Given the description of an element on the screen output the (x, y) to click on. 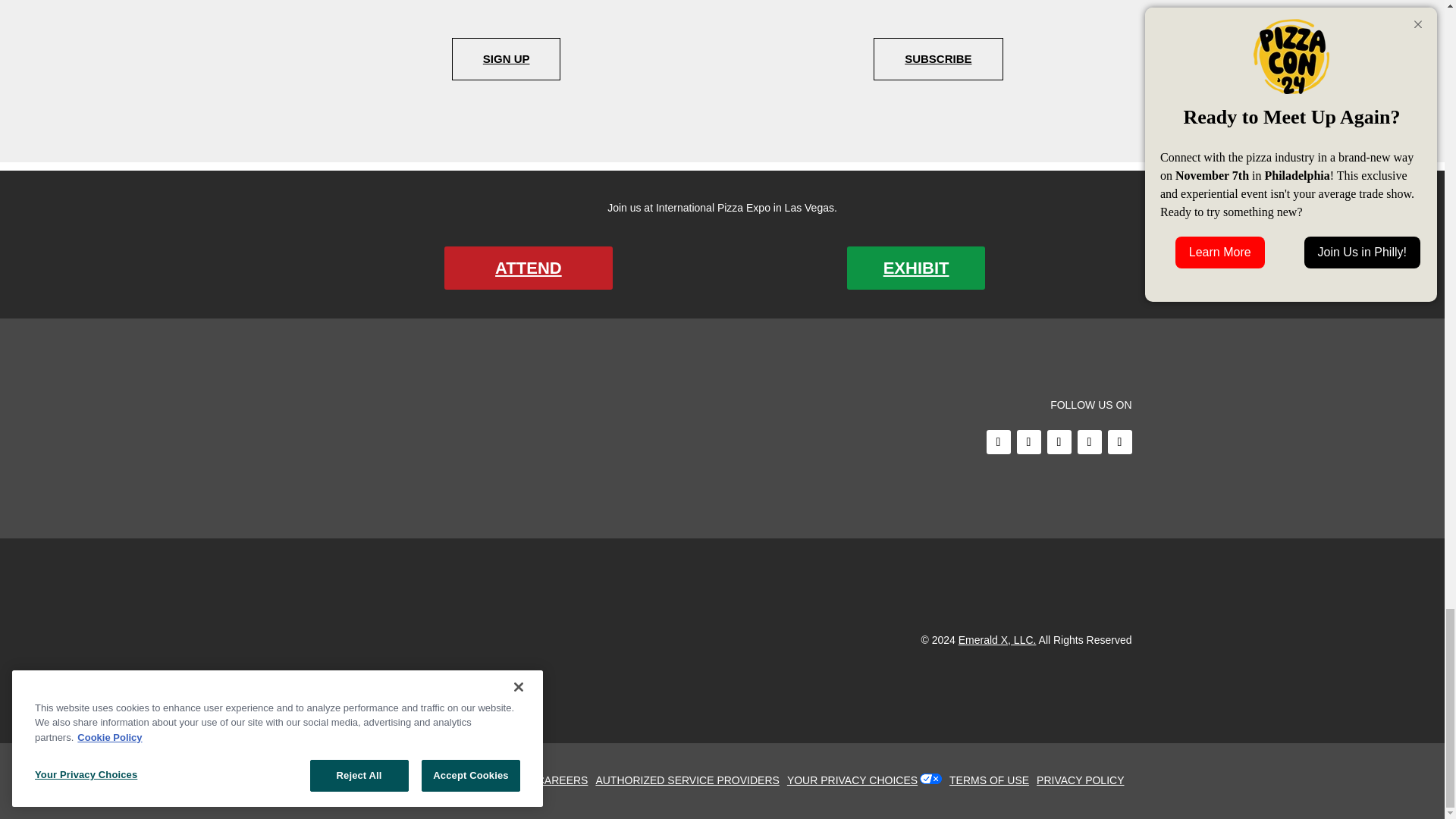
Follow on Instagram (1058, 441)
your-privacy-choices (855, 779)
about (515, 779)
authorized-service-providers (690, 779)
careers (566, 779)
Follow on Youtube (1088, 441)
Follow on Facebook (997, 441)
Follow on X (1028, 441)
Follow on LinkedIn (1118, 441)
terms-of-use (992, 779)
privacy-policy (1083, 779)
